Given the description of an element on the screen output the (x, y) to click on. 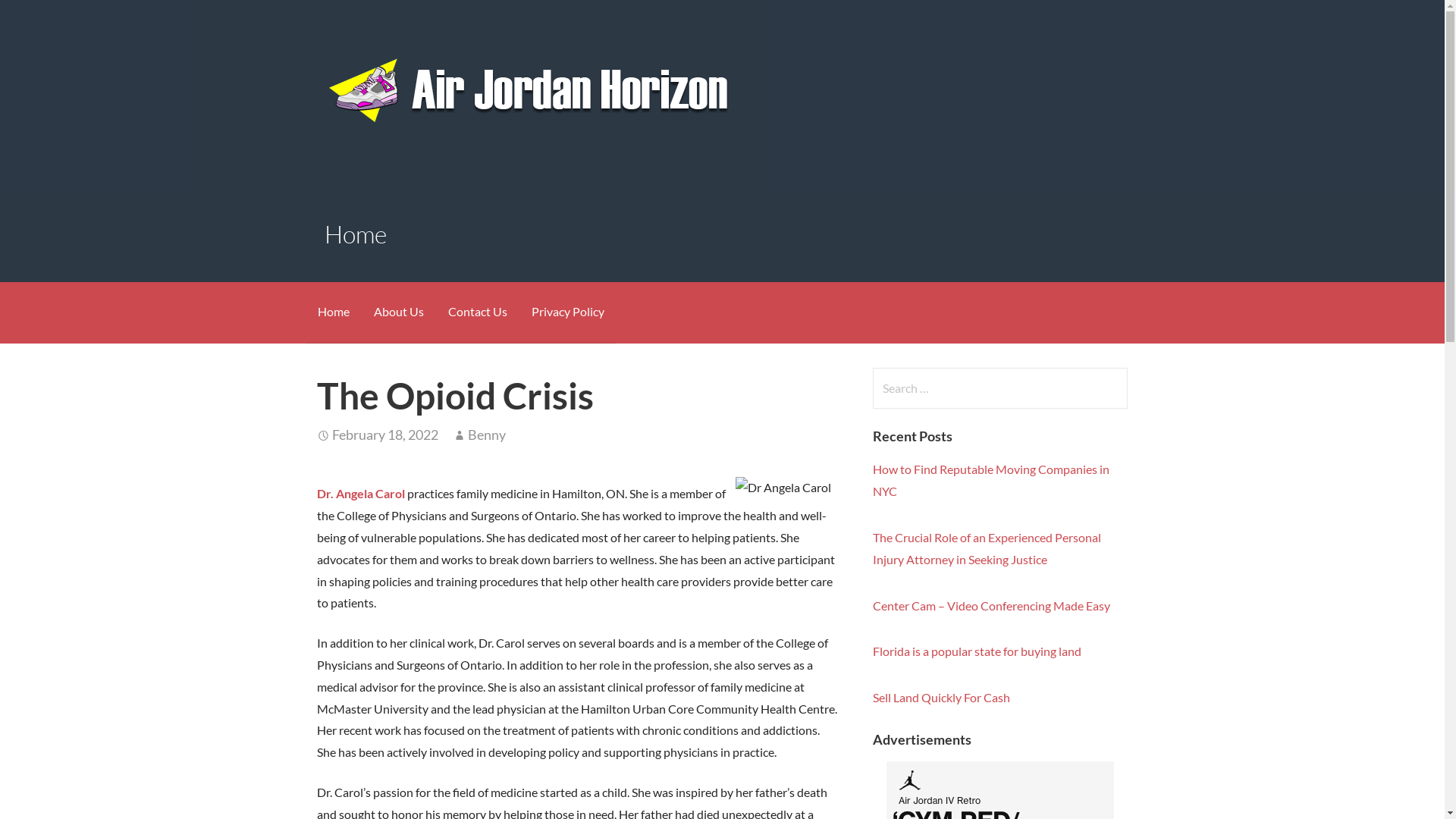
Privacy Policy Element type: text (566, 312)
Dr. Angela Carol Element type: text (360, 493)
Sell Land Quickly For Cash Element type: text (941, 697)
Home Element type: text (332, 312)
Benny Element type: text (486, 434)
How to Find Reputable Moving Companies in NYC Element type: text (990, 479)
Search Element type: text (41, 18)
Skip to content Element type: text (0, 0)
Contact Us Element type: text (476, 312)
About Us Element type: text (397, 312)
Florida is a popular state for buying land Element type: text (976, 650)
